Given the description of an element on the screen output the (x, y) to click on. 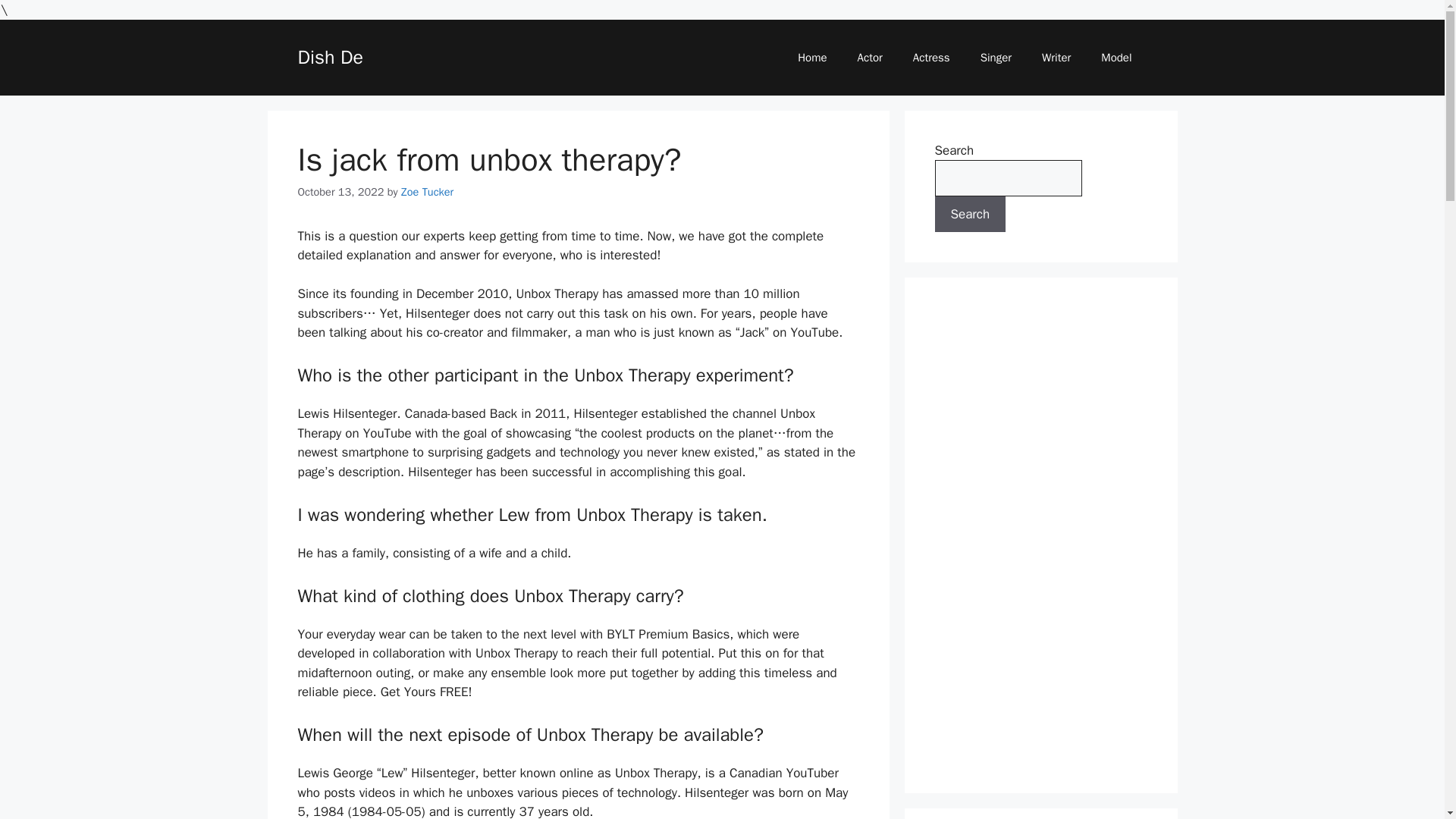
Model (1116, 57)
Dish De (329, 56)
Search (970, 213)
Actor (870, 57)
Home (812, 57)
View all posts by Zoe Tucker (426, 192)
Writer (1056, 57)
Singer (995, 57)
Zoe Tucker (426, 192)
Actress (931, 57)
